Given the description of an element on the screen output the (x, y) to click on. 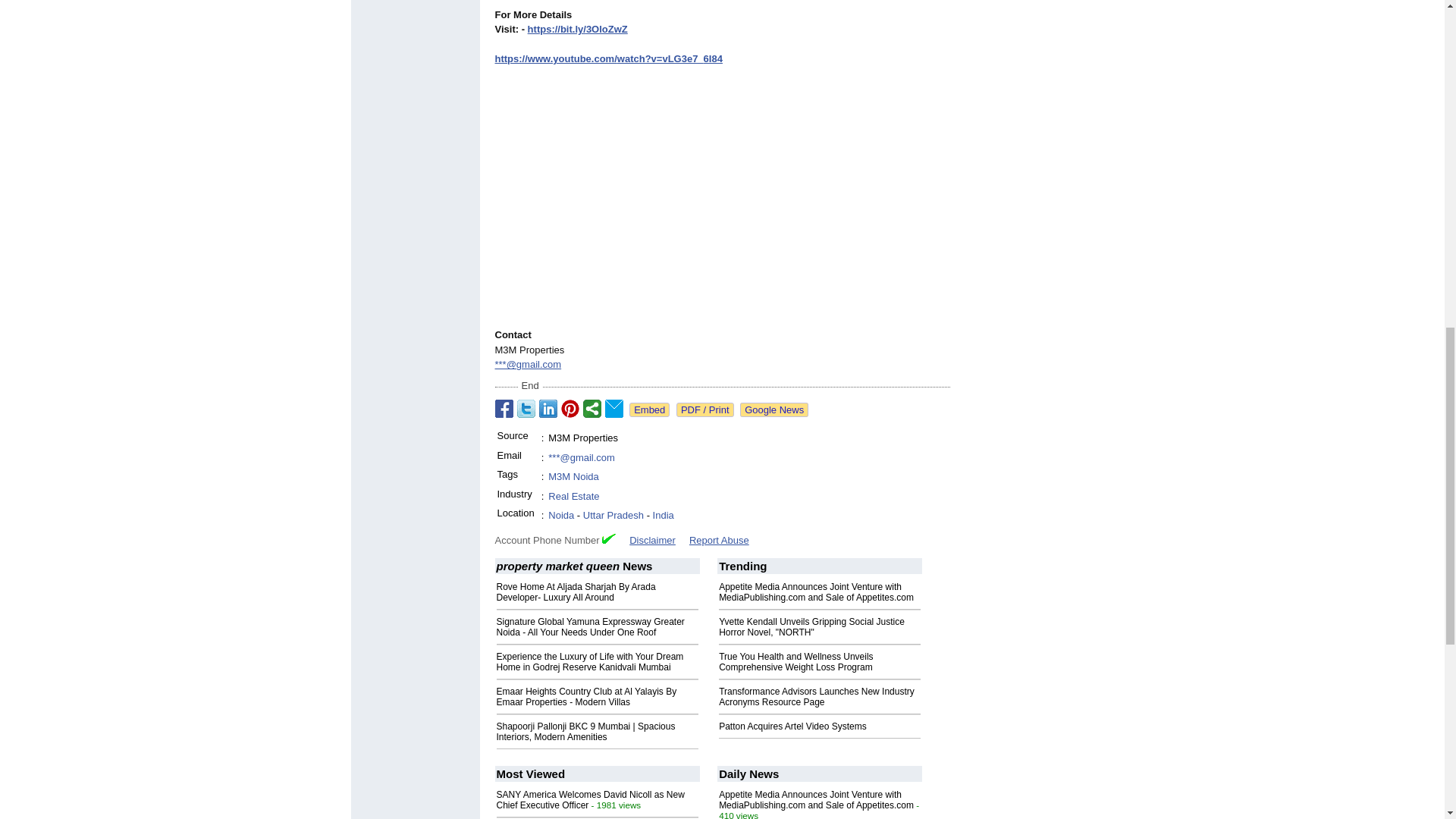
Share on StumbleUpon, Digg, etc (590, 408)
Share on Twitter (525, 408)
Embed (648, 409)
See or print the PDF version! (705, 409)
Embed this press release in your website! (648, 409)
Share on Pinterest (569, 408)
Verified (608, 538)
Share on Facebook (503, 408)
Email to a Friend (614, 408)
